Given the description of an element on the screen output the (x, y) to click on. 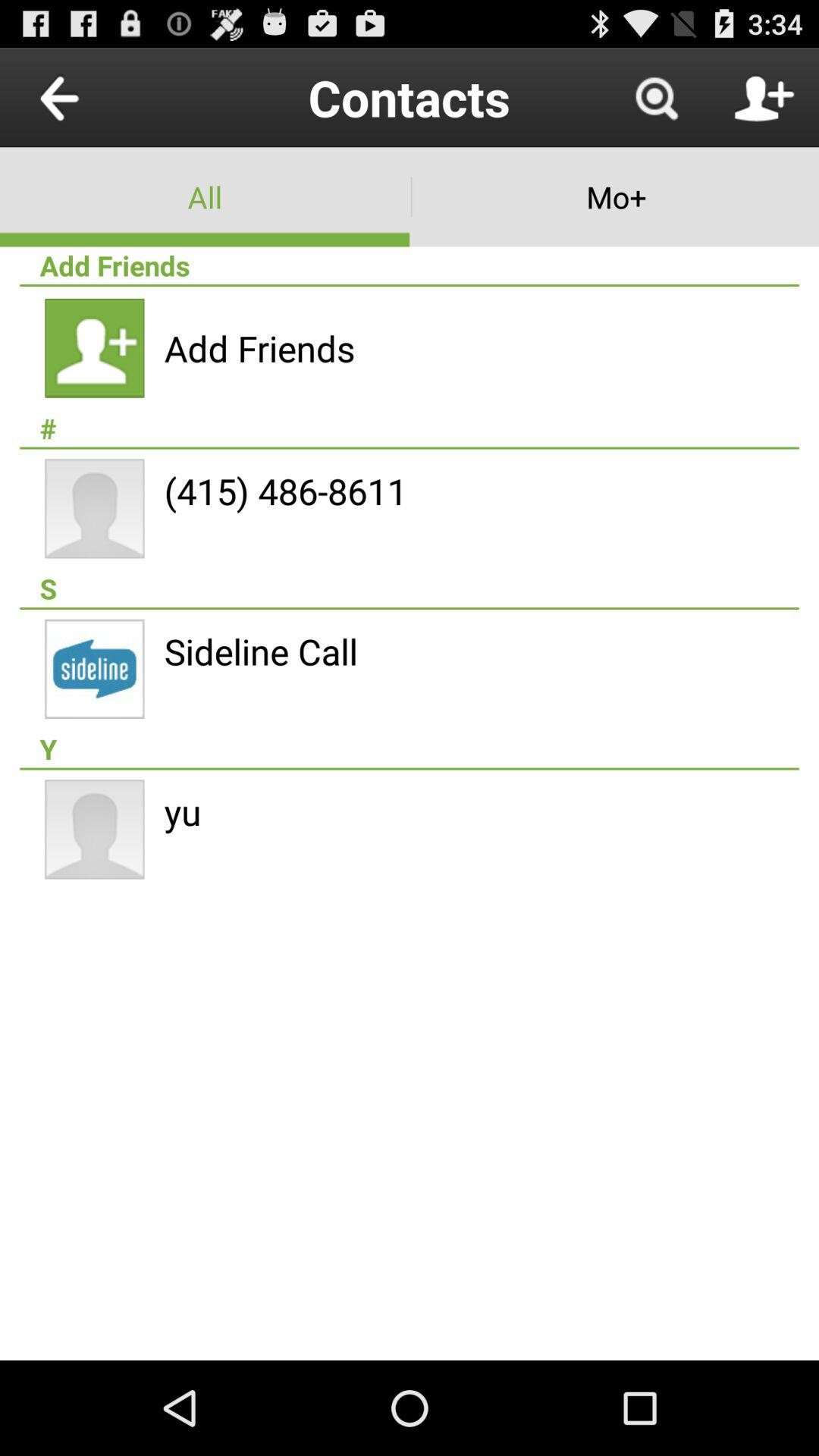
swipe to (415) 486-8611 app (285, 490)
